Given the description of an element on the screen output the (x, y) to click on. 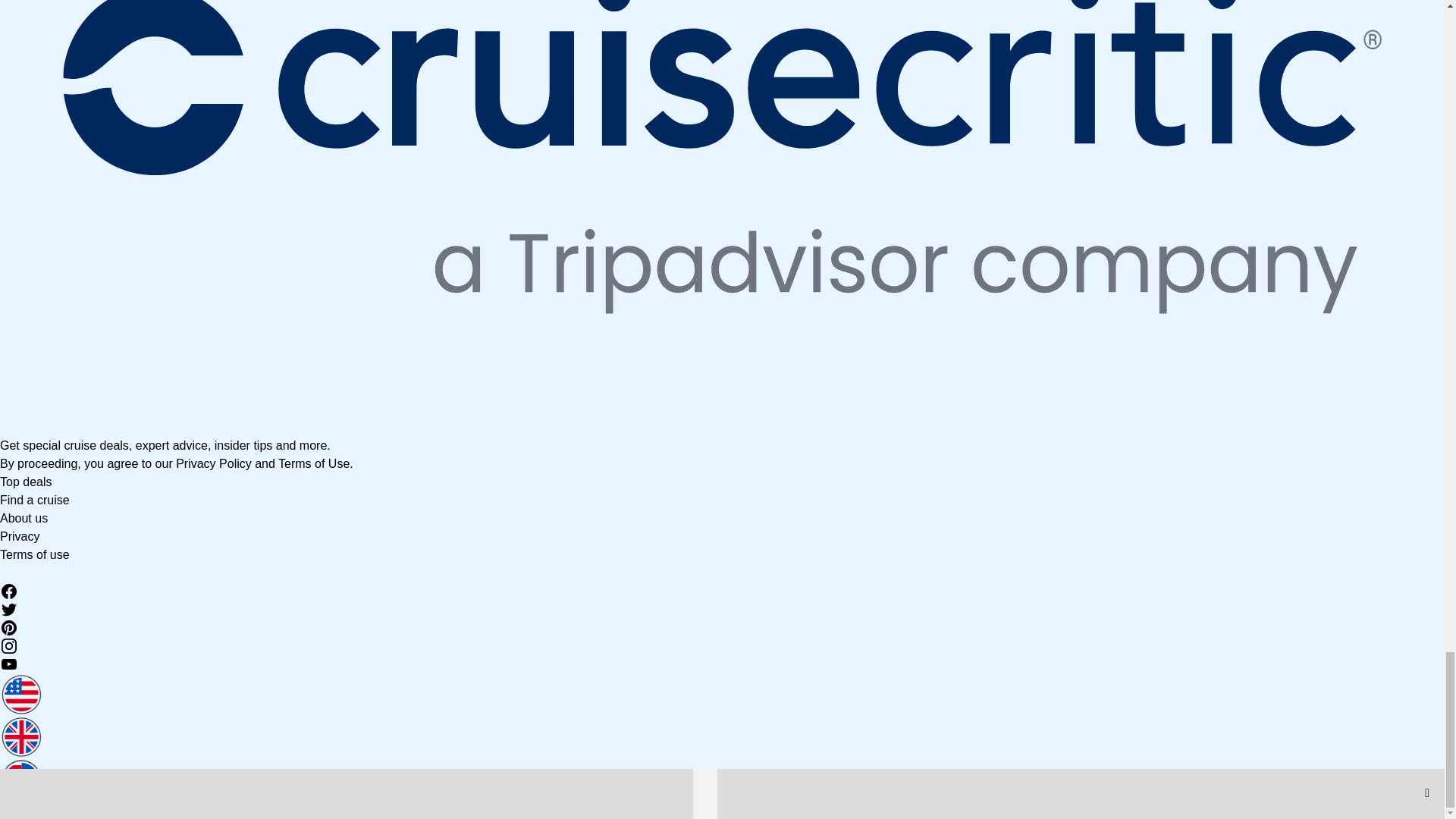
Terms of use (34, 554)
Privacy (19, 535)
Top deals (26, 481)
Find a cruise (34, 499)
Privacy Policy (213, 463)
Terms of Use (313, 463)
About us (24, 517)
